Given the description of an element on the screen output the (x, y) to click on. 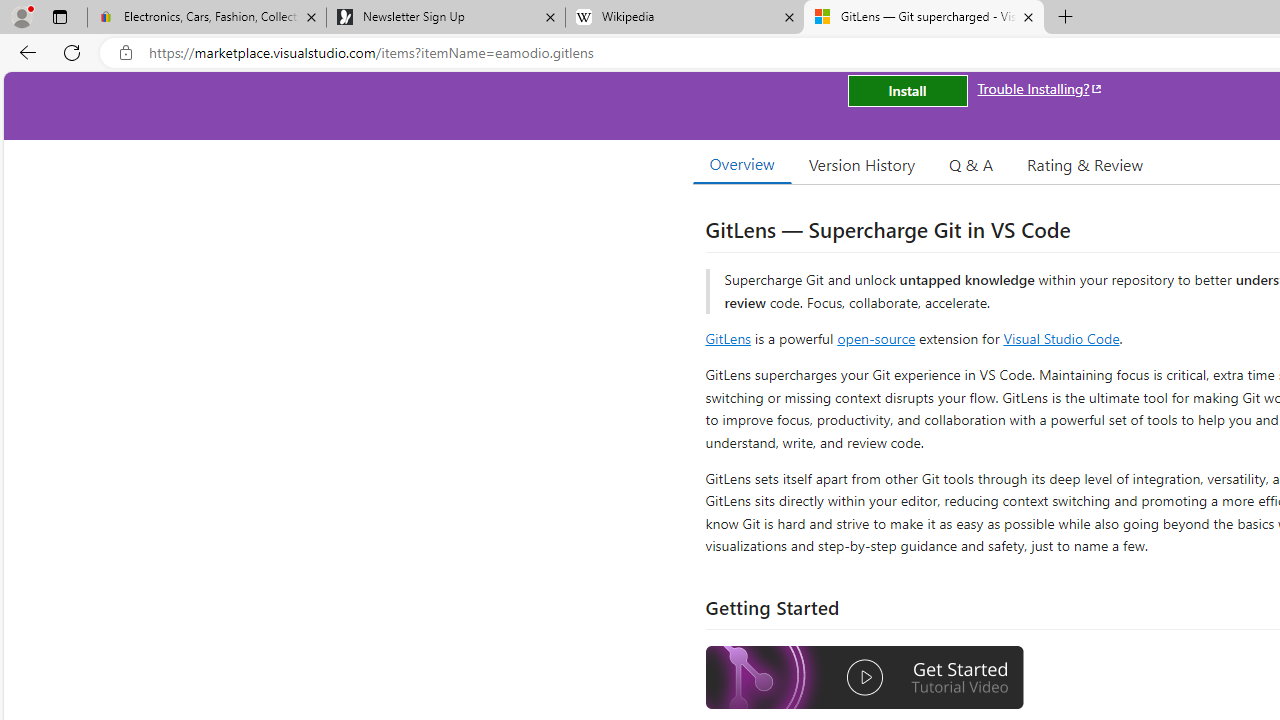
Wikipedia (684, 17)
Watch the GitLens Getting Started video (865, 679)
Visual Studio Code (1061, 337)
Overview (742, 164)
Rating & Review (1084, 164)
Install (907, 90)
Q & A (971, 164)
Version History (862, 164)
Watch the GitLens Getting Started video (865, 678)
